Given the description of an element on the screen output the (x, y) to click on. 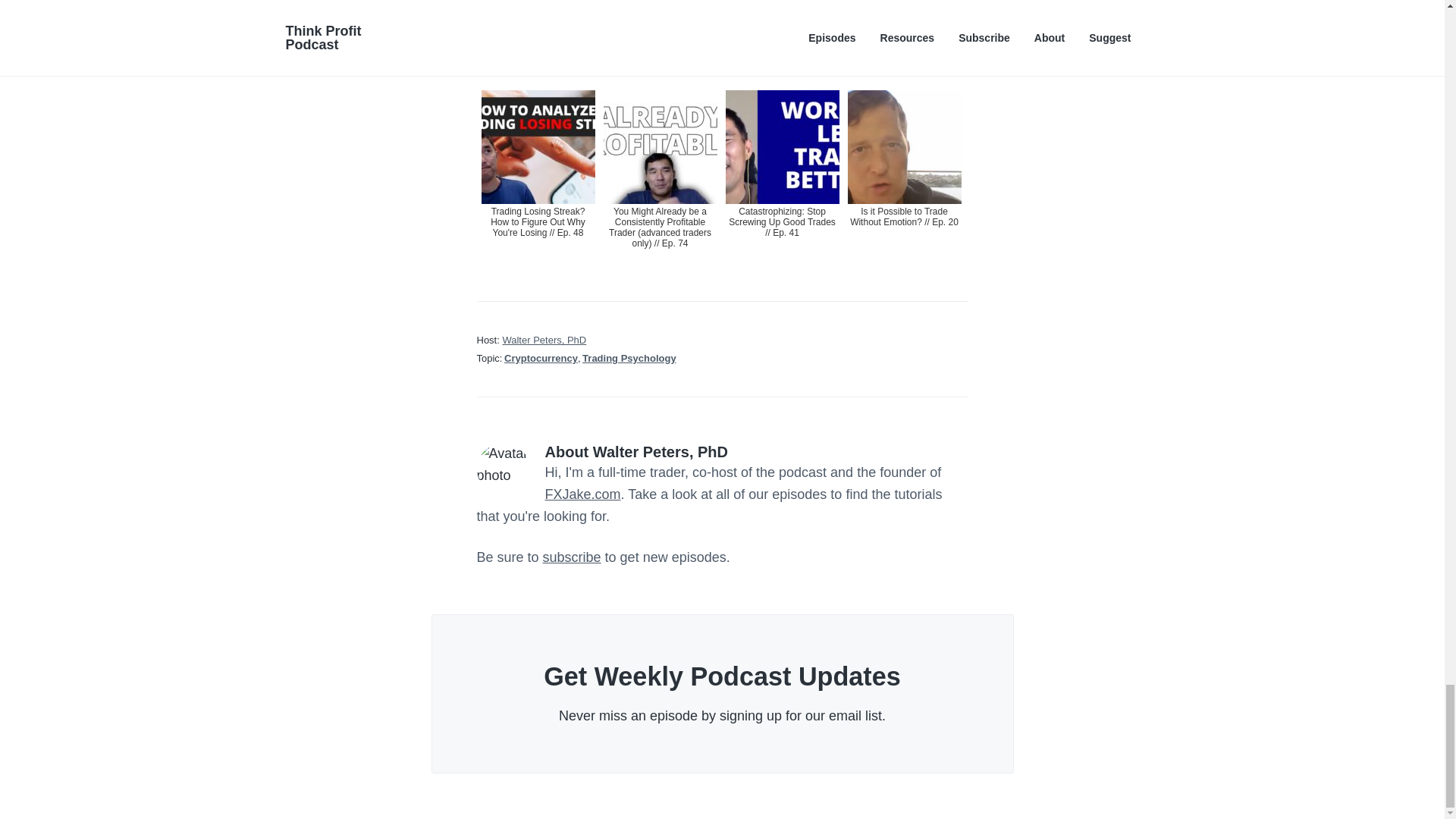
Trading Psychology (629, 358)
Cryptocurrency (540, 358)
subscribe (572, 557)
Walter Peters, PhD (544, 339)
FXJake.com (582, 494)
